Given the description of an element on the screen output the (x, y) to click on. 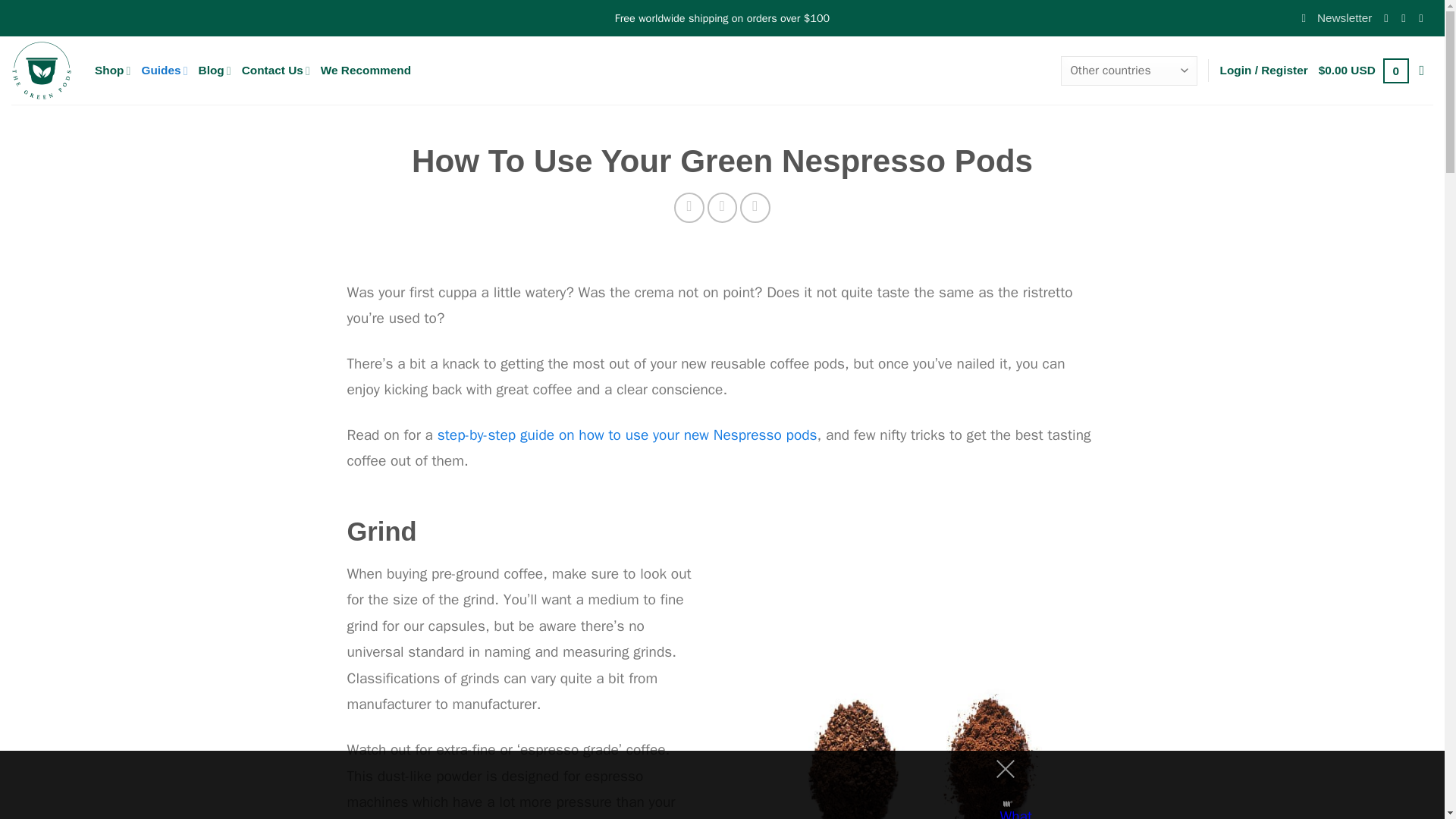
Login (1263, 70)
Newsletter (1336, 18)
Email to a Friend (754, 207)
Blog (214, 70)
Share on Facebook (689, 207)
How To Use Your Green Nespresso Pods 1 (920, 740)
Share on Twitter (722, 207)
Sign up for Newsletter (1336, 18)
The Green Pods - The last coffee pods you'll ever buy (41, 70)
Shop (112, 70)
Cart (1364, 70)
Guides (164, 70)
